Given the description of an element on the screen output the (x, y) to click on. 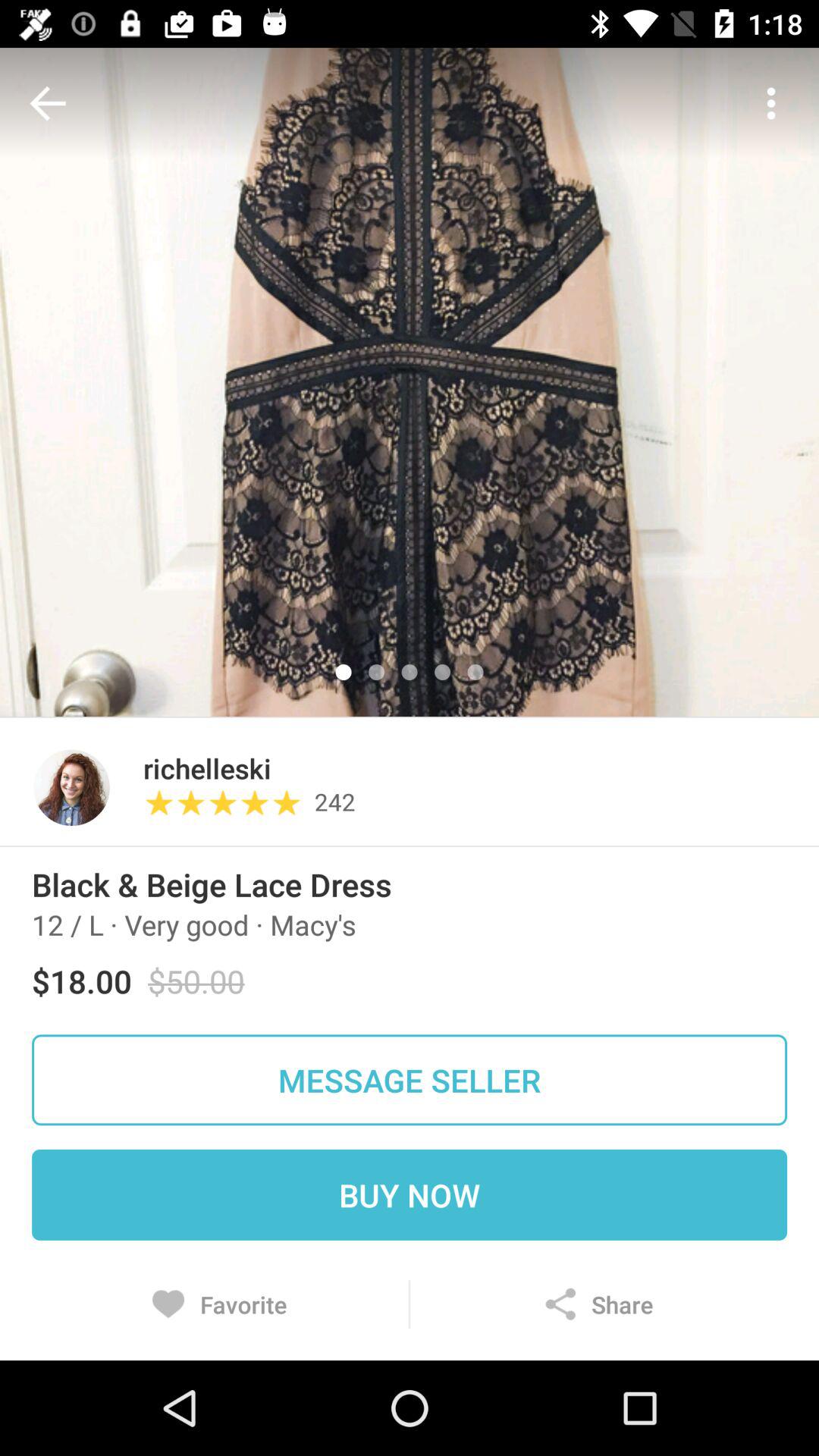
press the black beige lace item (211, 884)
